Given the description of an element on the screen output the (x, y) to click on. 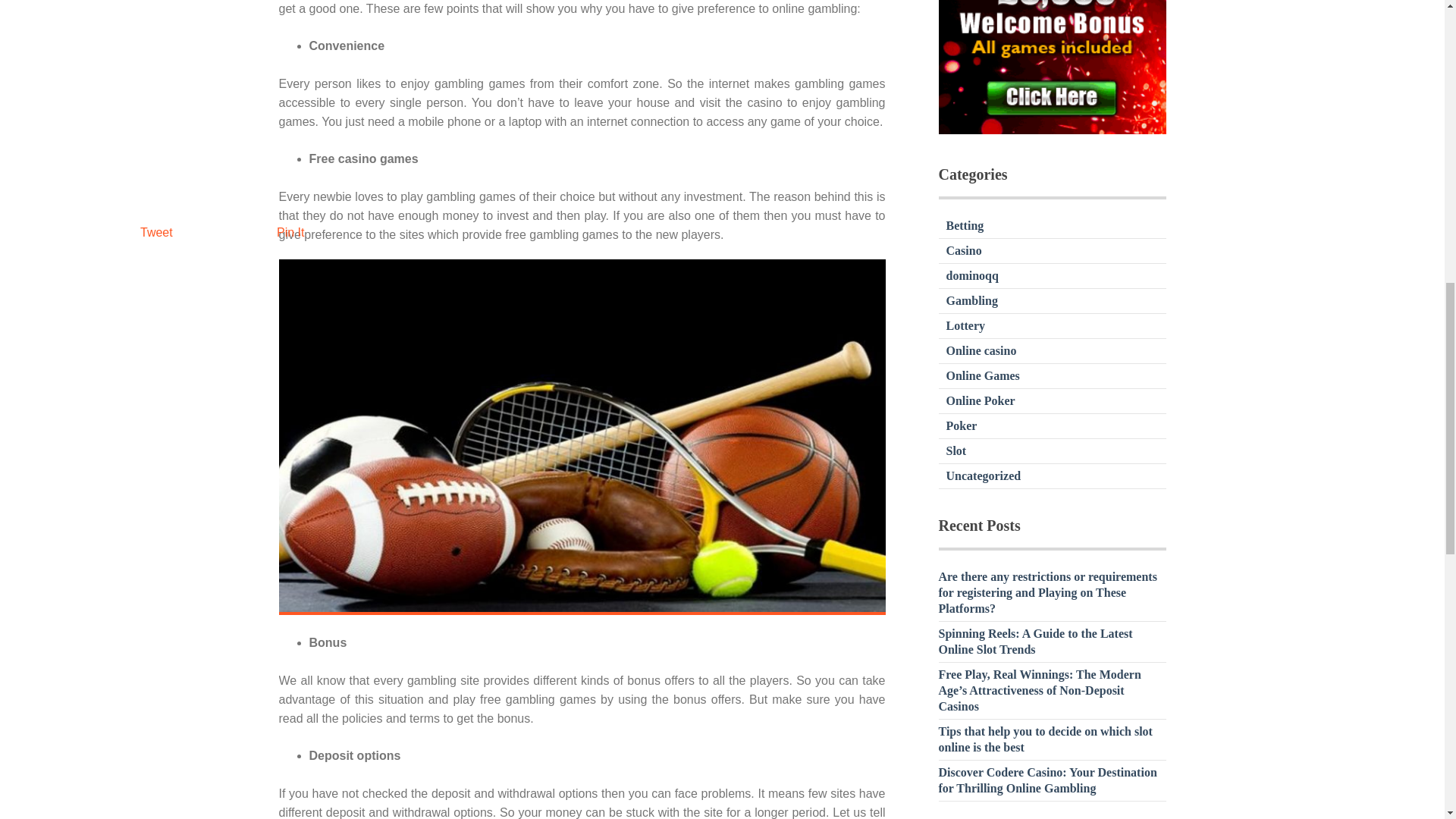
Casino (963, 250)
Gambling (971, 300)
Lottery (965, 325)
Betting (965, 225)
dominoqq (972, 275)
